Given the description of an element on the screen output the (x, y) to click on. 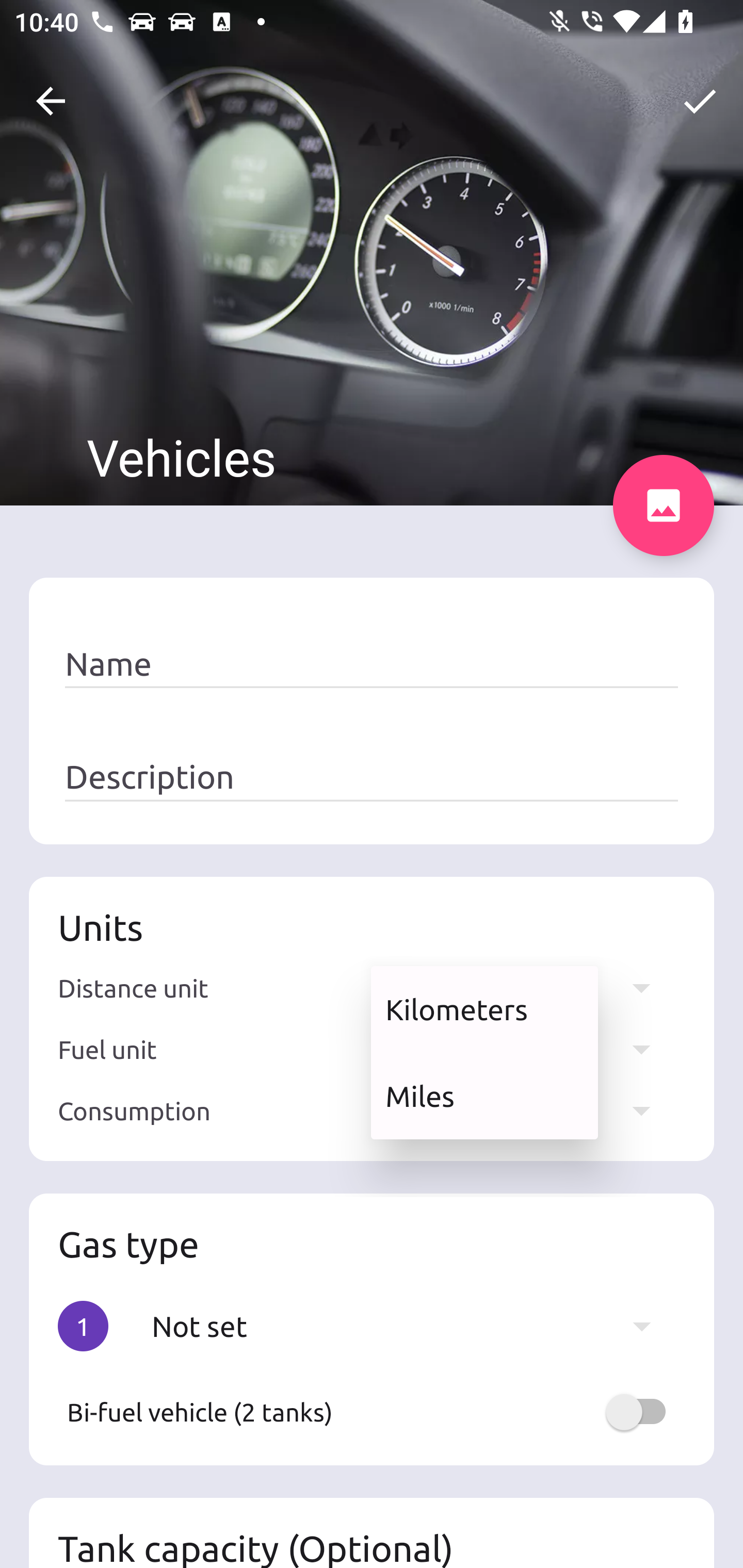
Kilometers (484, 1008)
Miles (484, 1095)
